Given the description of an element on the screen output the (x, y) to click on. 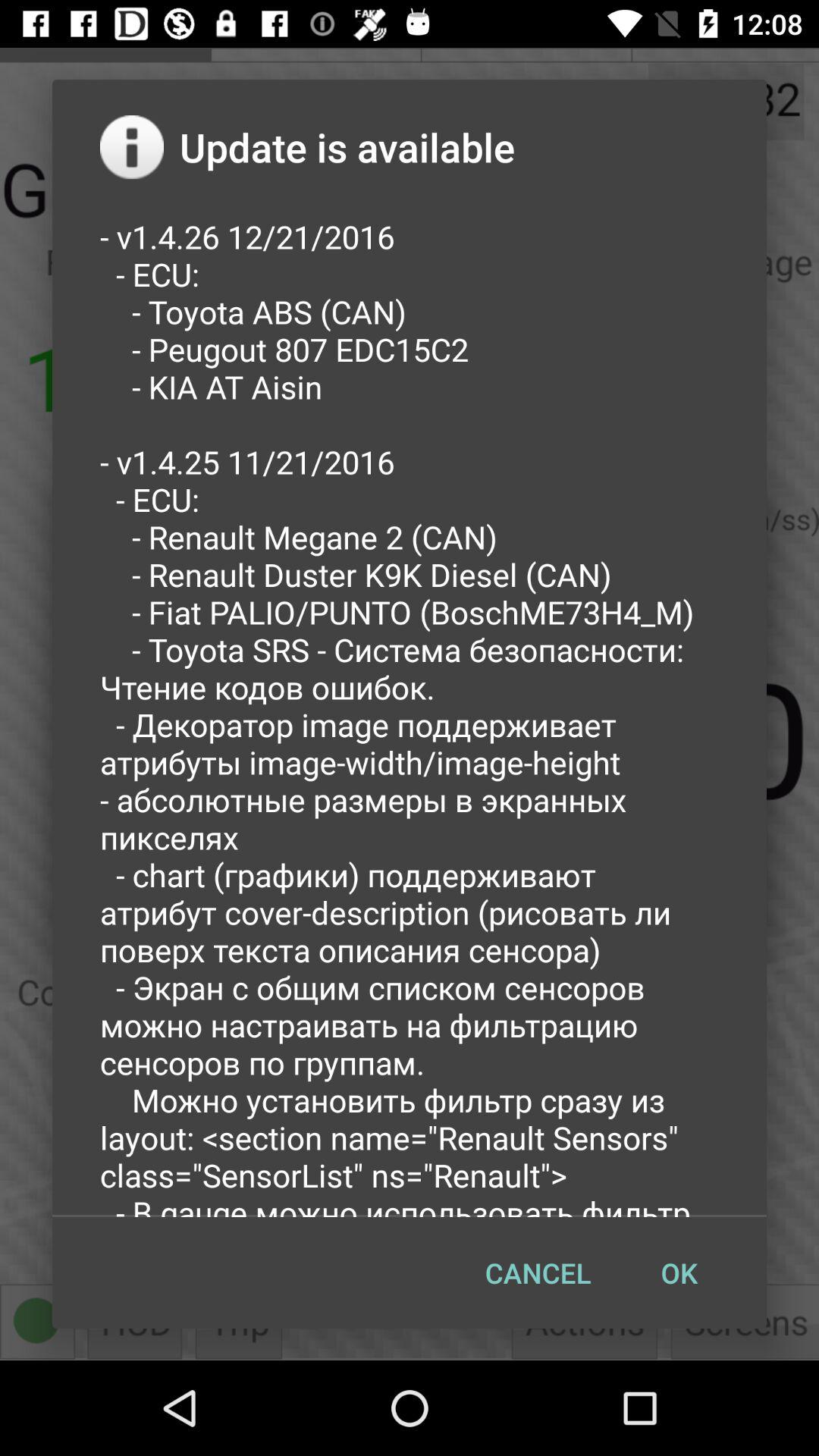
launch the button at the bottom right corner (678, 1272)
